Given the description of an element on the screen output the (x, y) to click on. 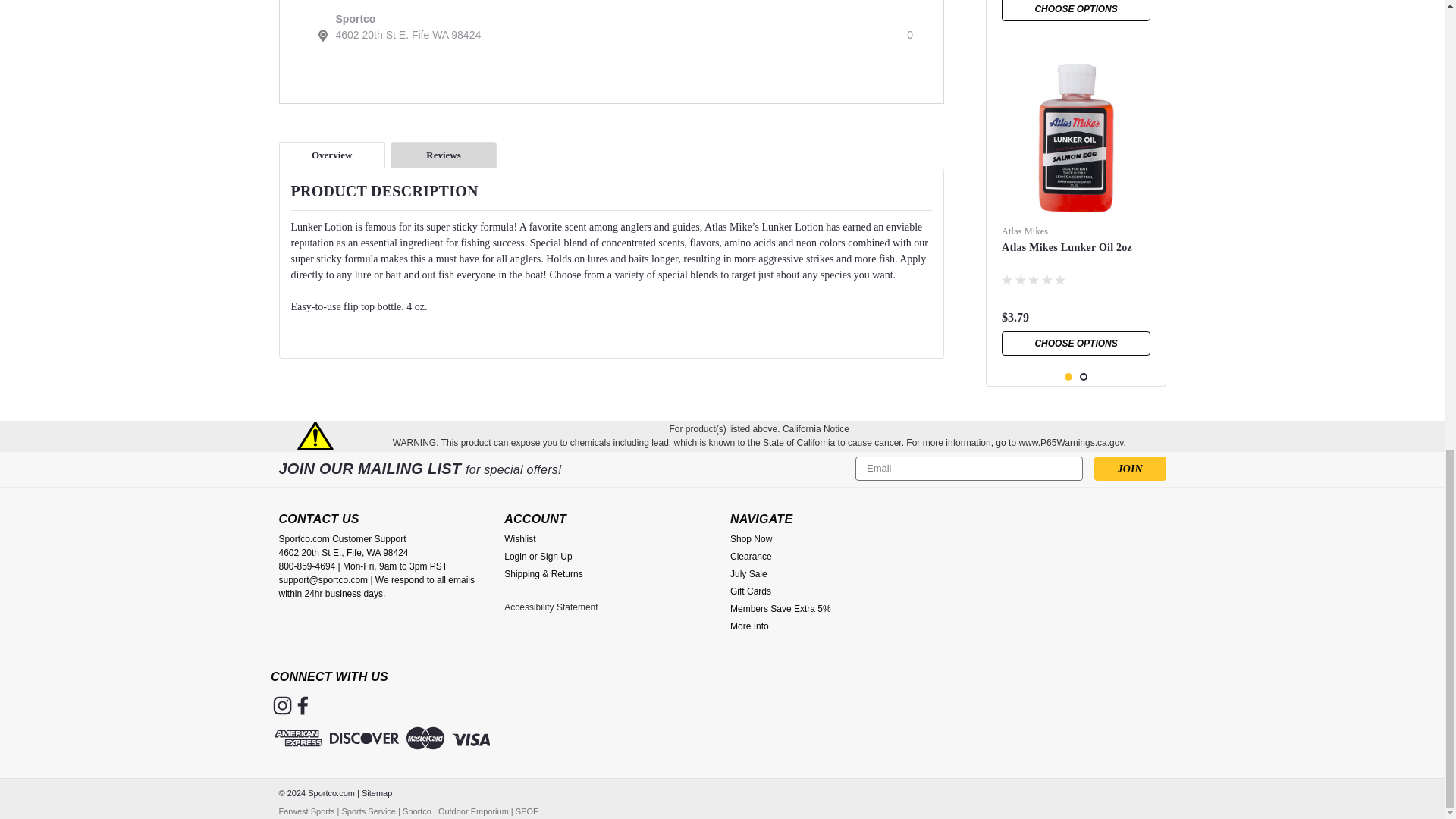
Join (1130, 468)
Atlas Mikes Lunker Oil 2oz (1075, 137)
